Given the description of an element on the screen output the (x, y) to click on. 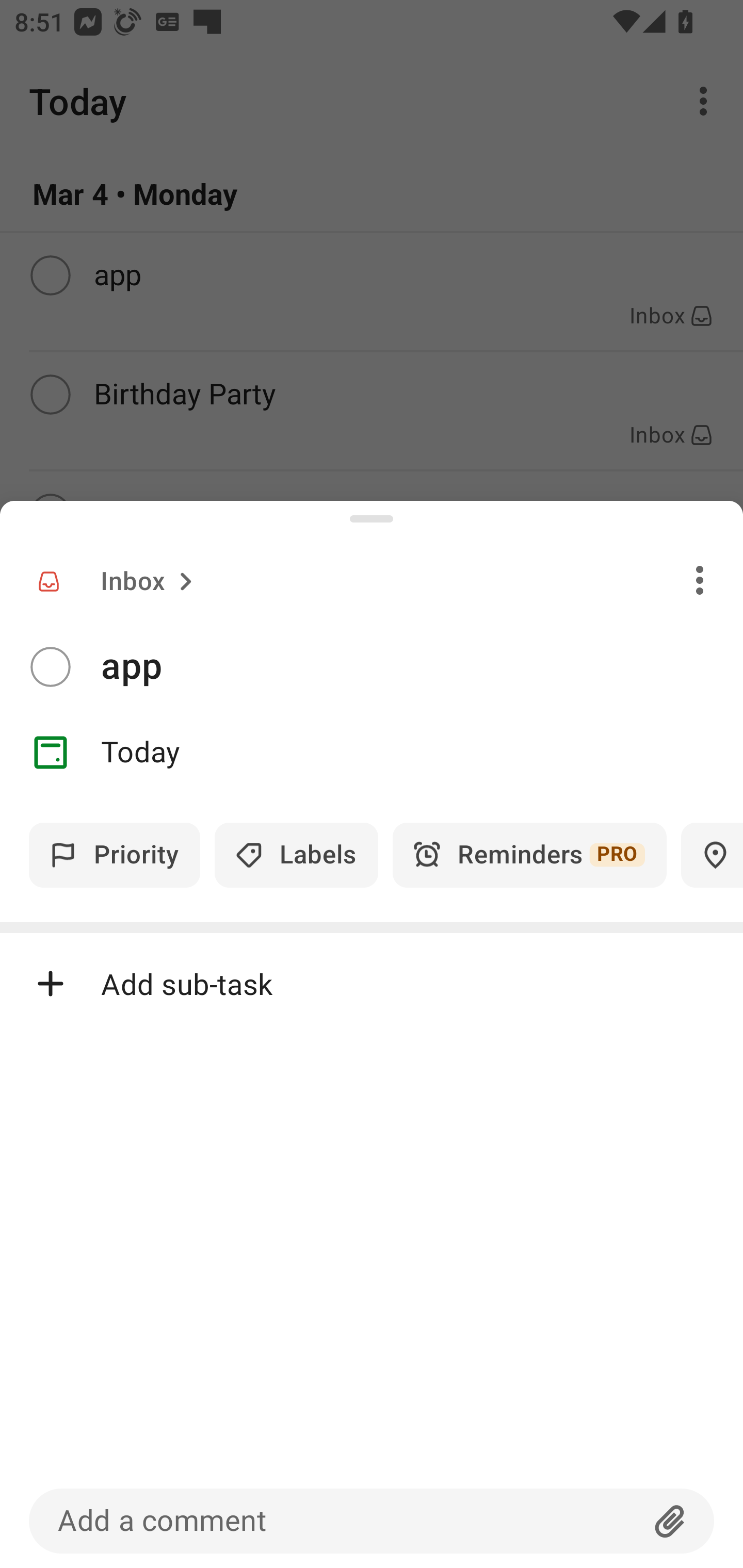
Overflow menu (699, 580)
Complete (50, 667)
app​ (422, 666)
Date Today (371, 752)
Priority (113, 855)
Labels (296, 855)
Reminders PRO (529, 855)
Locations PRO (712, 855)
Add sub-task (371, 983)
Add a comment Attachment (371, 1520)
Attachment (670, 1520)
